Given the description of an element on the screen output the (x, y) to click on. 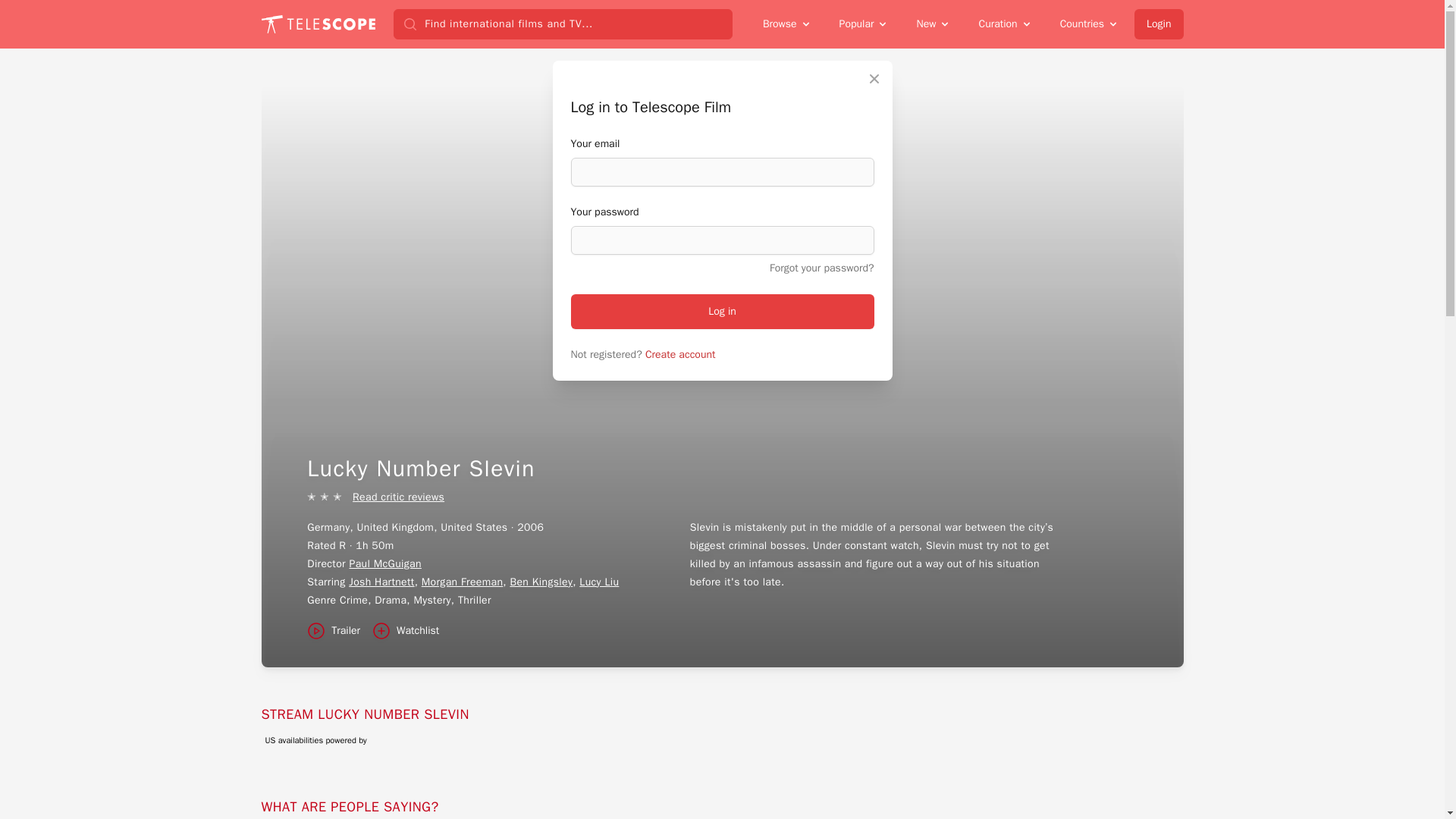
Countries (1089, 24)
Popular (864, 24)
New (933, 24)
Log in (721, 311)
Curation (1004, 24)
Browse (787, 24)
